Given the description of an element on the screen output the (x, y) to click on. 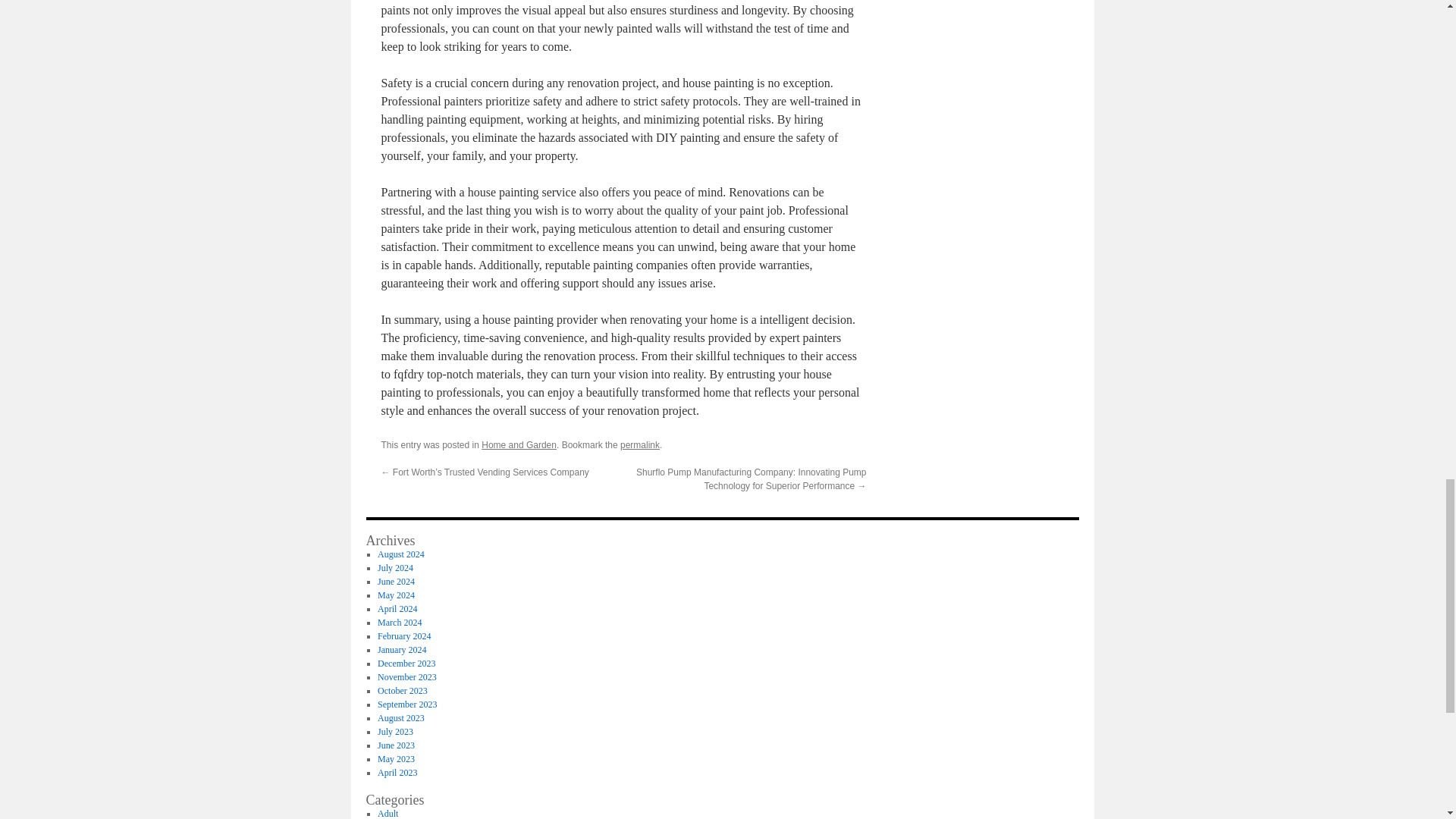
Home and Garden (518, 444)
January 2024 (401, 649)
September 2023 (406, 704)
permalink (639, 444)
May 2023 (395, 758)
August 2024 (401, 553)
November 2023 (406, 676)
July 2023 (395, 731)
Adult (387, 813)
